Given the description of an element on the screen output the (x, y) to click on. 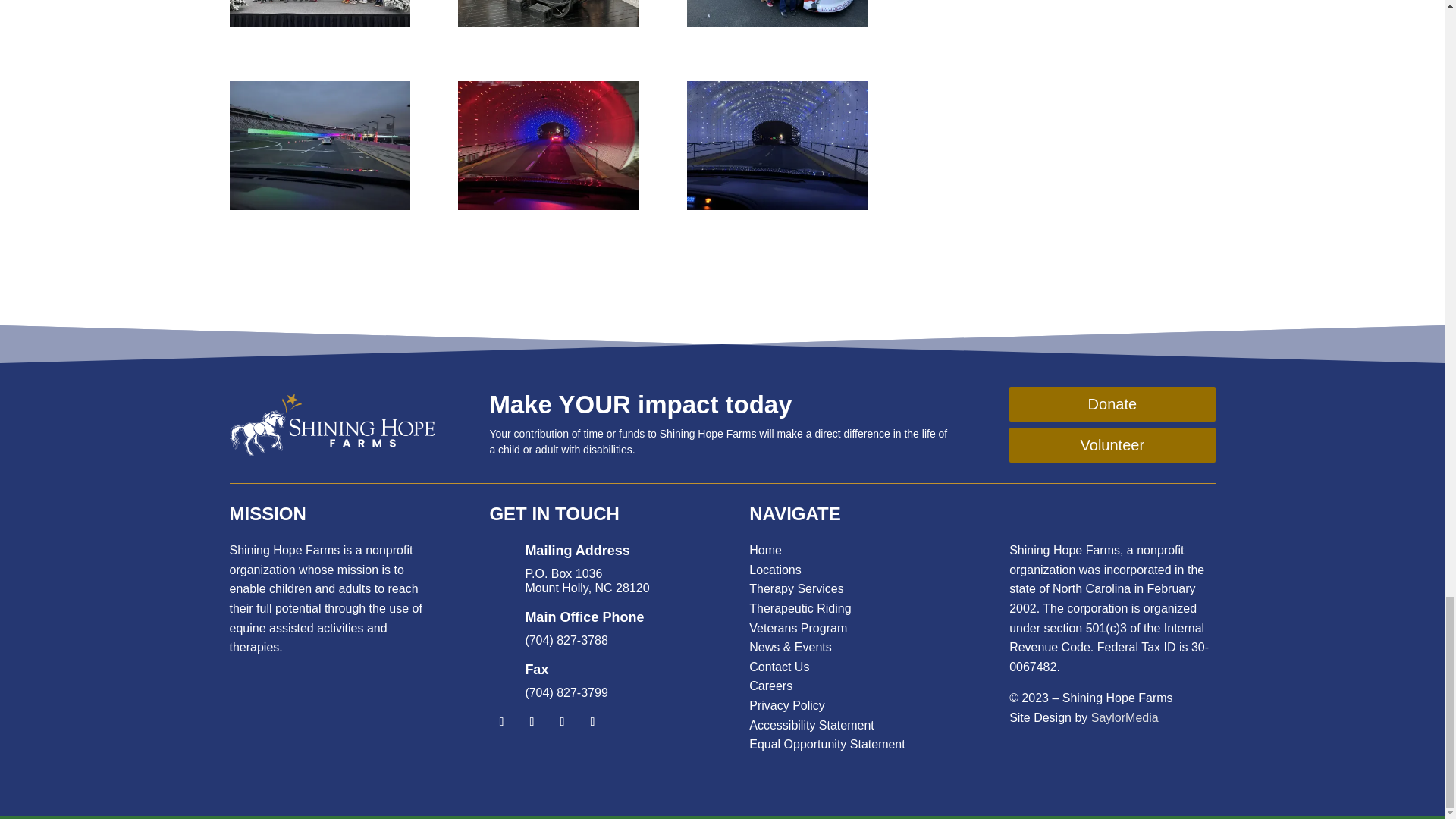
SHF-Primary-Reverse-small (330, 424)
Follow on X (531, 721)
Follow on Facebook (501, 721)
Follow on Instagram (561, 721)
Follow on dbdb-mail (622, 721)
Follow on Vimeo (591, 721)
